Given the description of an element on the screen output the (x, y) to click on. 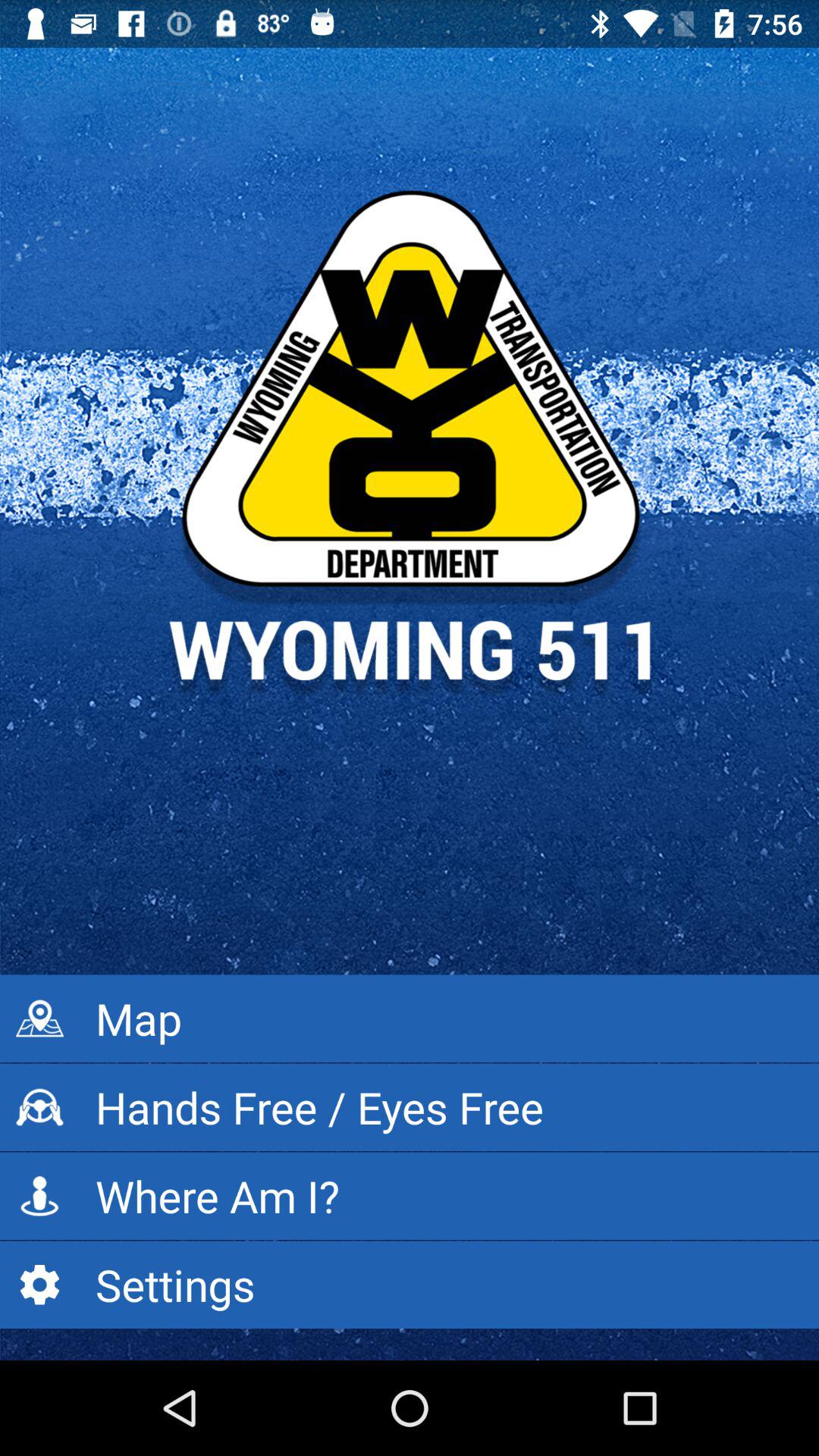
launch icon below hands free eyes icon (409, 1195)
